Given the description of an element on the screen output the (x, y) to click on. 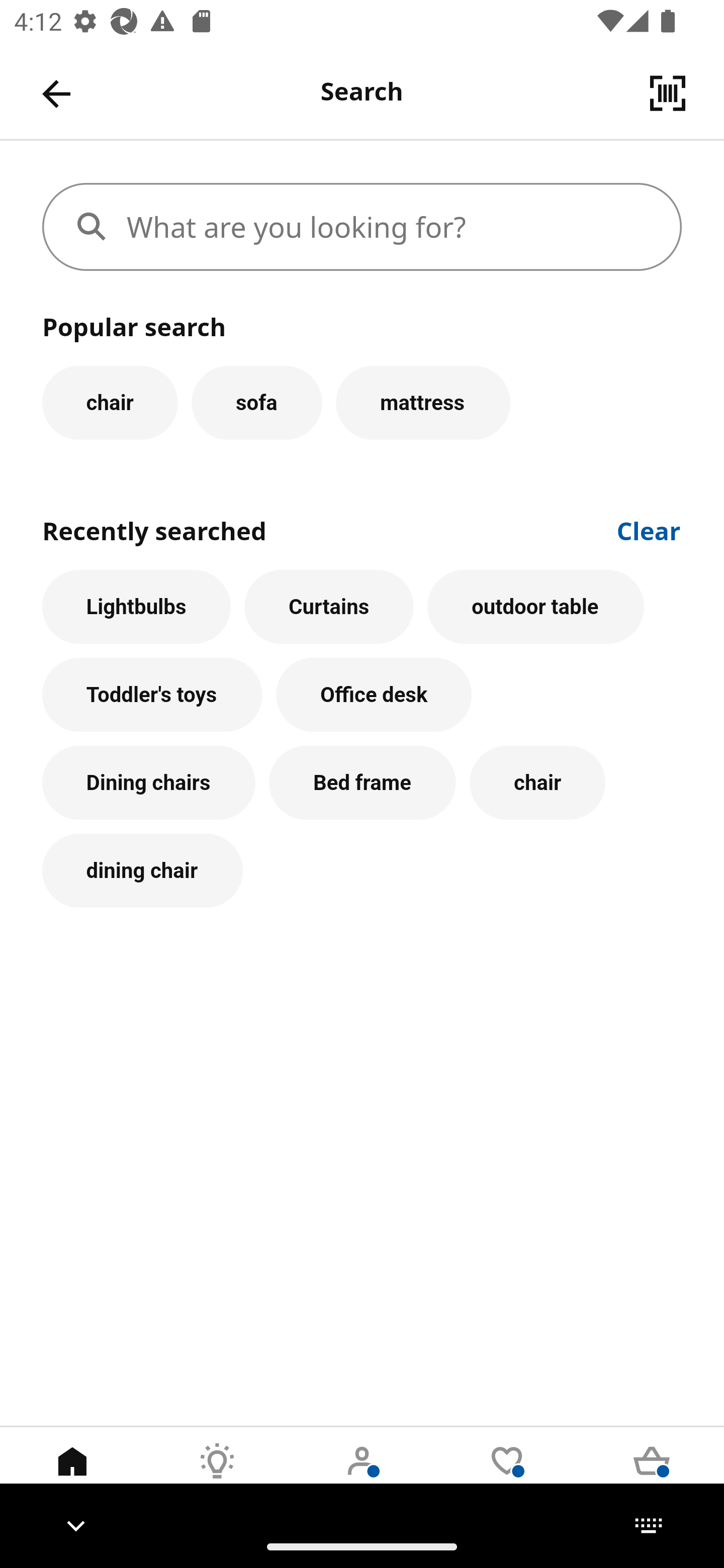
chair (109, 402)
sofa (256, 402)
mattress (423, 402)
Clear (649, 528)
Lightbulbs (135, 606)
Curtains (329, 606)
outdoor table (535, 606)
Toddler's toys (151, 695)
Office desk (373, 695)
Dining chairs (148, 783)
Bed frame (362, 783)
chair (537, 783)
dining chair (141, 870)
Home
Tab 1 of 5 (72, 1476)
Inspirations
Tab 2 of 5 (216, 1476)
User
Tab 3 of 5 (361, 1476)
Wishlist
Tab 4 of 5 (506, 1476)
Cart
Tab 5 of 5 (651, 1476)
